Given the description of an element on the screen output the (x, y) to click on. 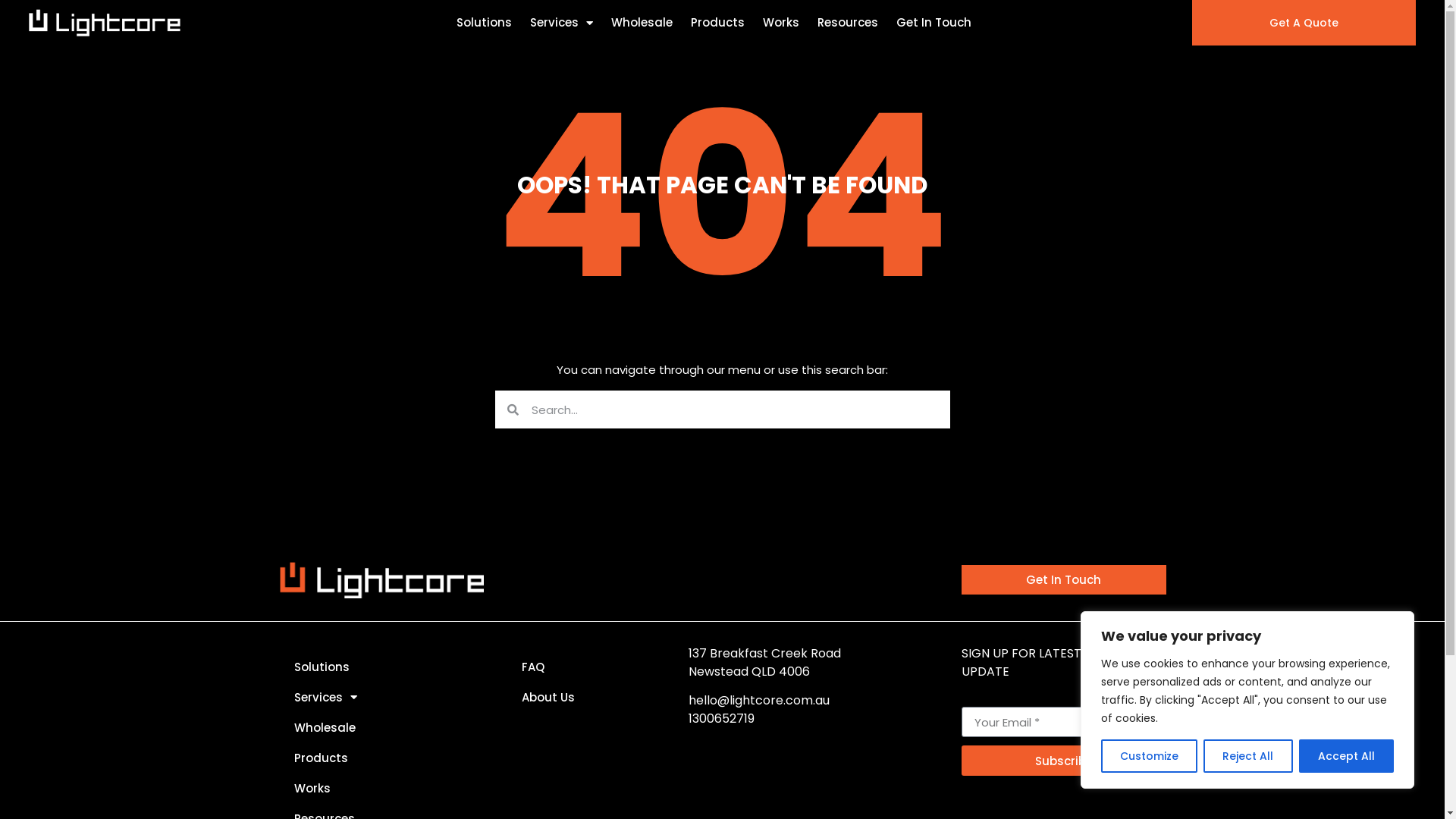
137 Breakfast Creek Road Element type: text (764, 653)
Services Element type: text (381, 697)
Accept All Element type: text (1346, 755)
Solutions Element type: text (483, 22)
FAQ Element type: text (585, 667)
Solutions Element type: text (381, 667)
Customize Element type: text (1149, 755)
Works Element type: text (780, 22)
Wholesale Element type: text (641, 22)
Get In Touch Element type: text (1063, 579)
Wholesale Element type: text (381, 727)
Get In Touch Element type: text (933, 22)
Resources Element type: text (847, 22)
1300652719 Element type: text (721, 718)
Reject All Element type: text (1247, 755)
Subscribe Element type: text (1063, 760)
About Us Element type: text (585, 697)
Works Element type: text (381, 788)
Get A Quote Element type: text (1303, 22)
Products Element type: text (381, 758)
Services Element type: text (561, 22)
Products Element type: text (717, 22)
hello@lightcore.com.au Element type: text (758, 700)
